Given the description of an element on the screen output the (x, y) to click on. 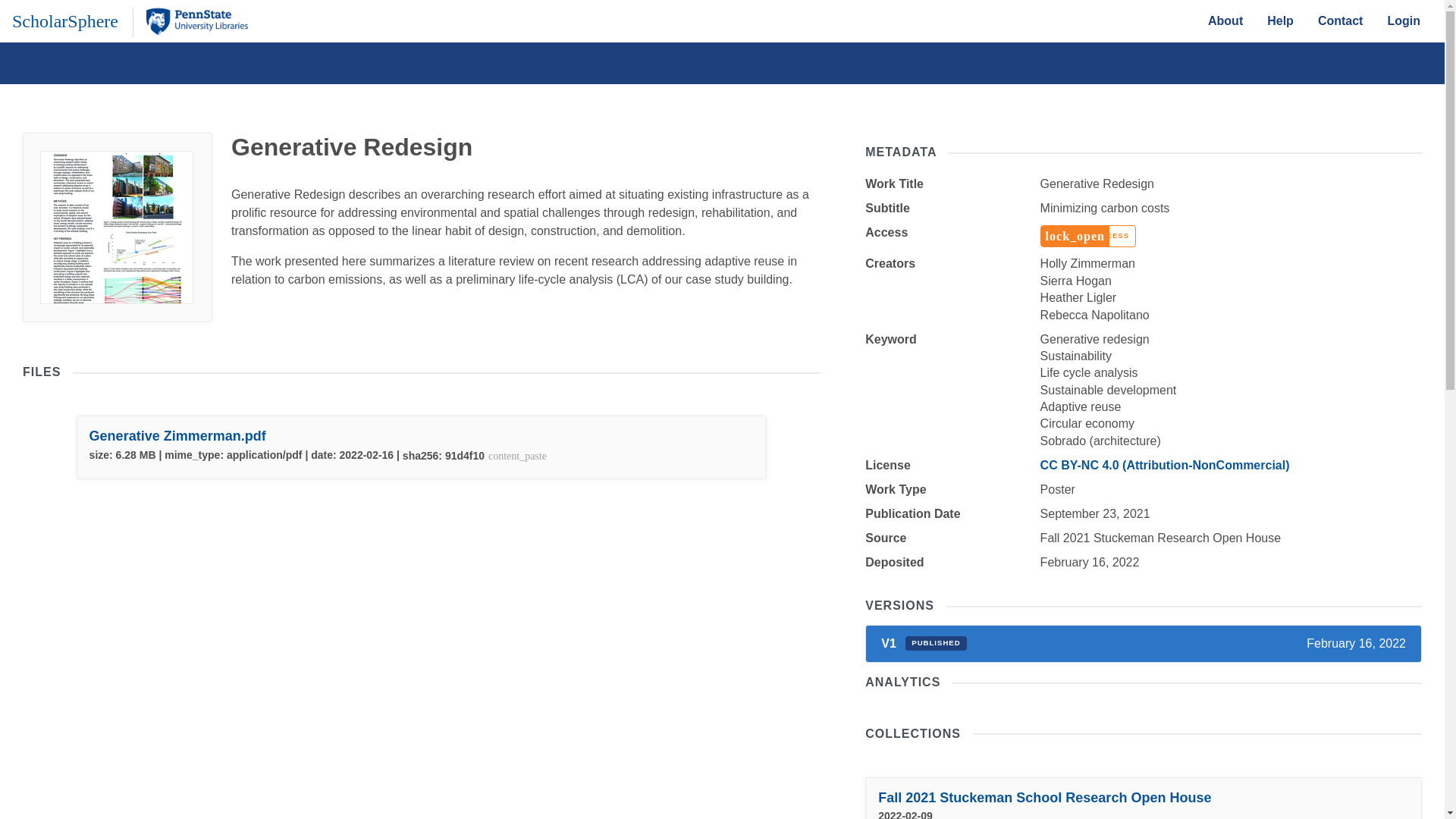
V1 PUBLISHED (923, 643)
Generative Zimmerman.pdf (177, 435)
Download Generative Zimmerman.pdf (177, 435)
About (1225, 20)
Fall 2021 Stuckeman School Research Open House (1044, 797)
Login (1403, 20)
Help (1280, 20)
Contact (1340, 20)
ScholarSphere (64, 20)
